Given the description of an element on the screen output the (x, y) to click on. 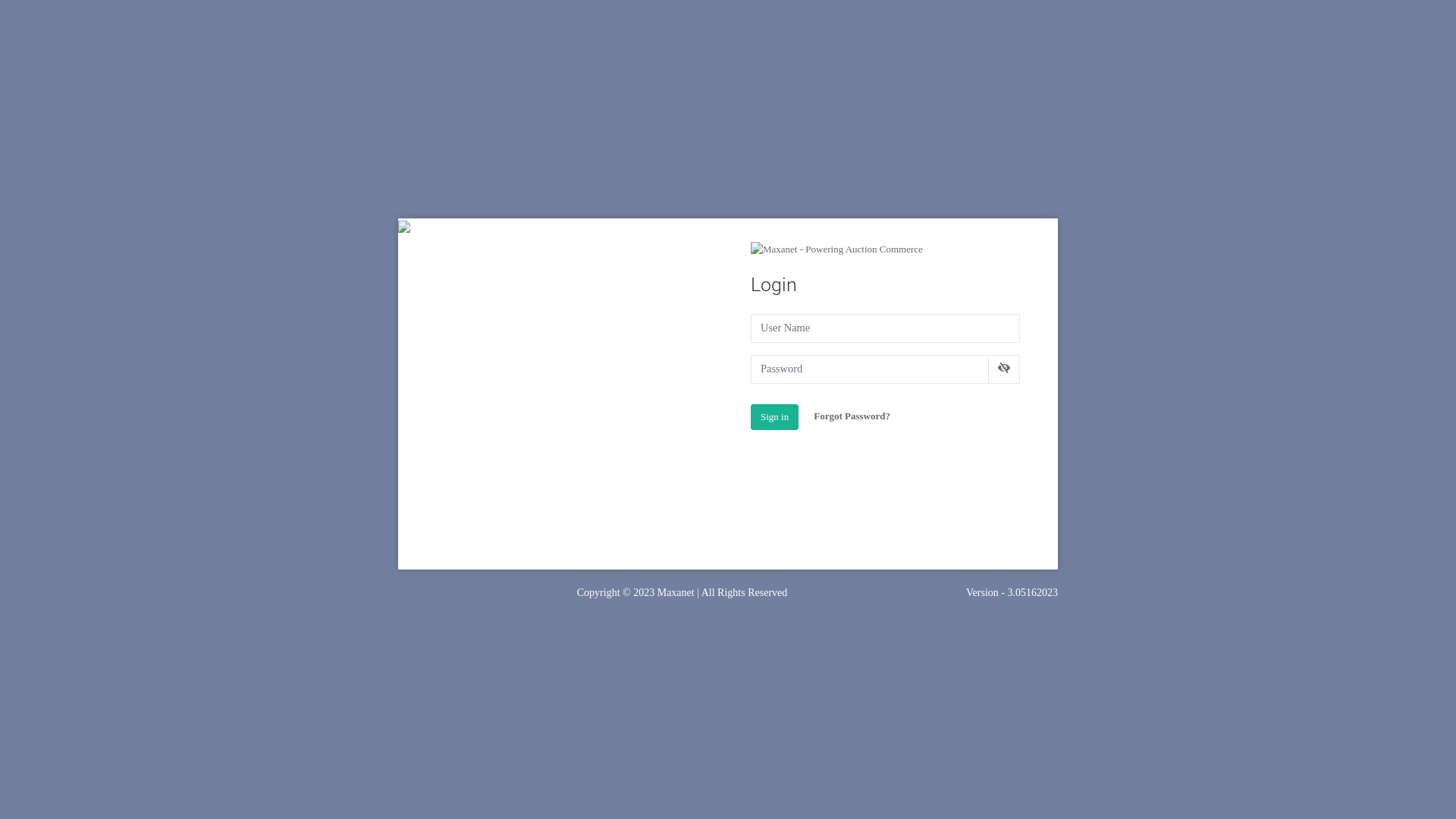
Maxanet - Powering Auction Commerce Element type: hover (836, 249)
Sign in Element type: text (774, 416)
Forgot Password? Element type: text (851, 415)
